Given the description of an element on the screen output the (x, y) to click on. 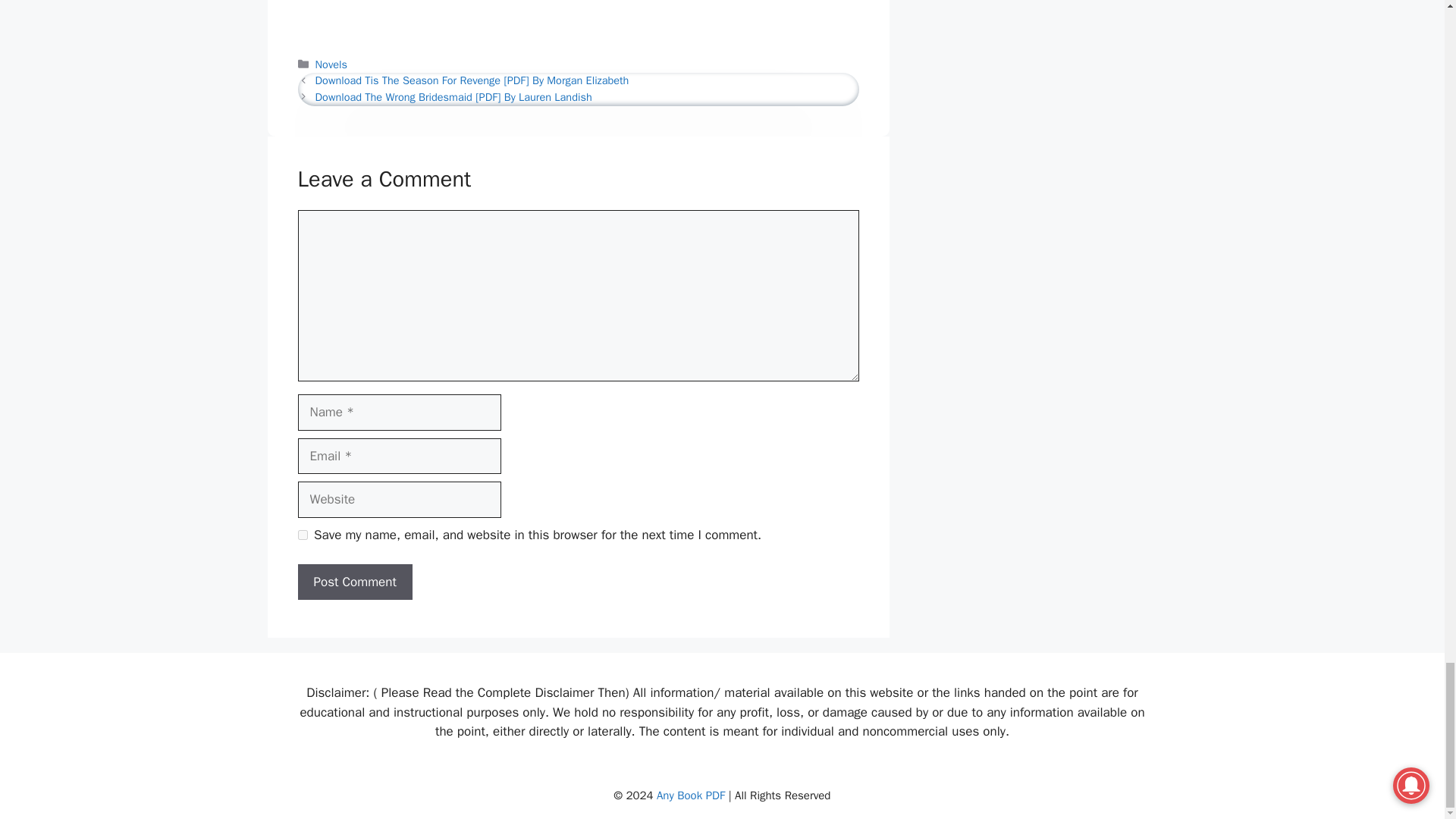
Post Comment (354, 582)
yes (302, 534)
